Given the description of an element on the screen output the (x, y) to click on. 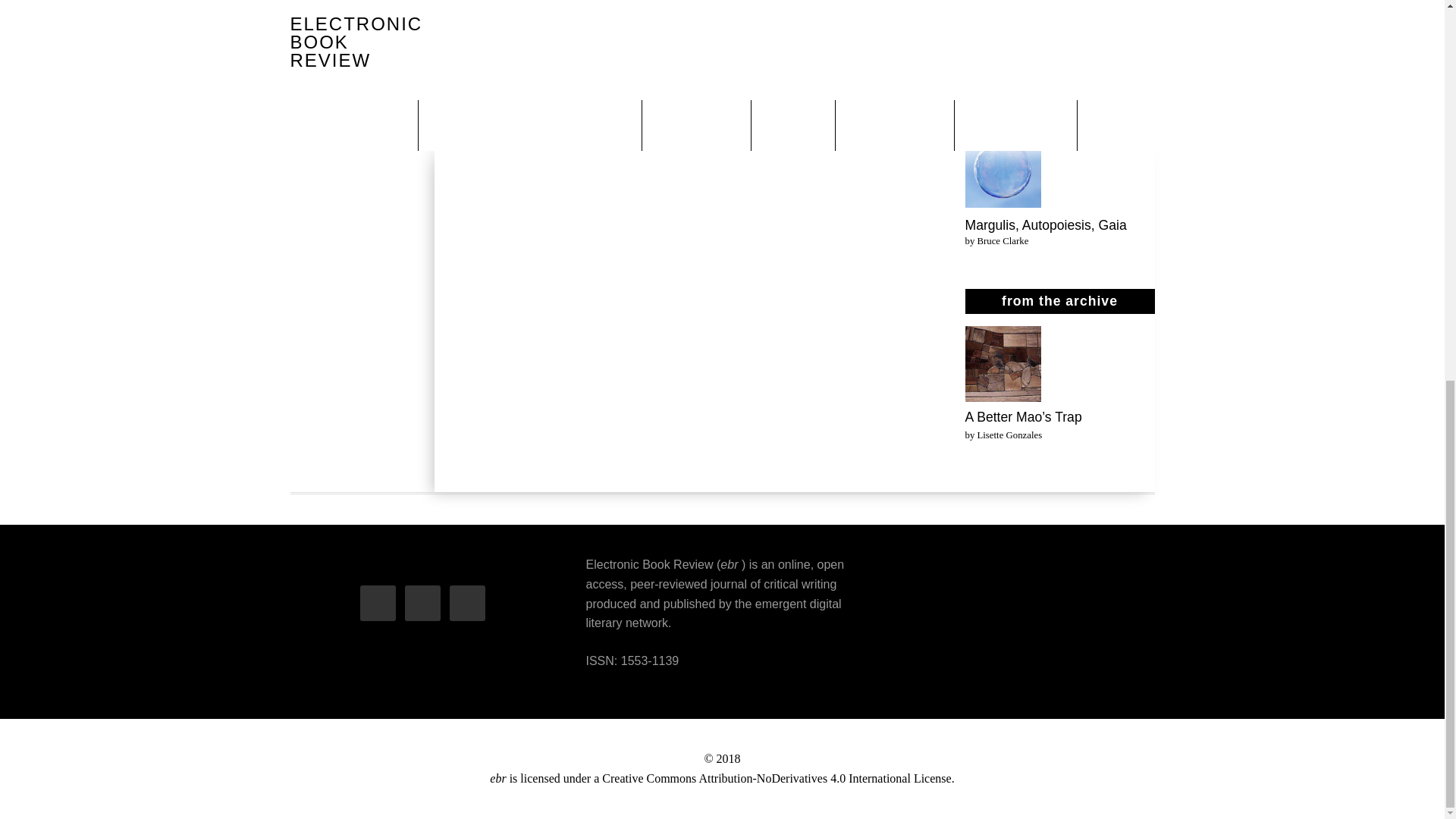
Vectoral Muscle in a Great Field of Process (1002, 19)
Margulis, Autopoiesis, Gaia (1044, 224)
Margulis, Autopoiesis, Gaia (1002, 172)
Vectoral Muscle in a Great Field of Process (1058, 80)
